Given the description of an element on the screen output the (x, y) to click on. 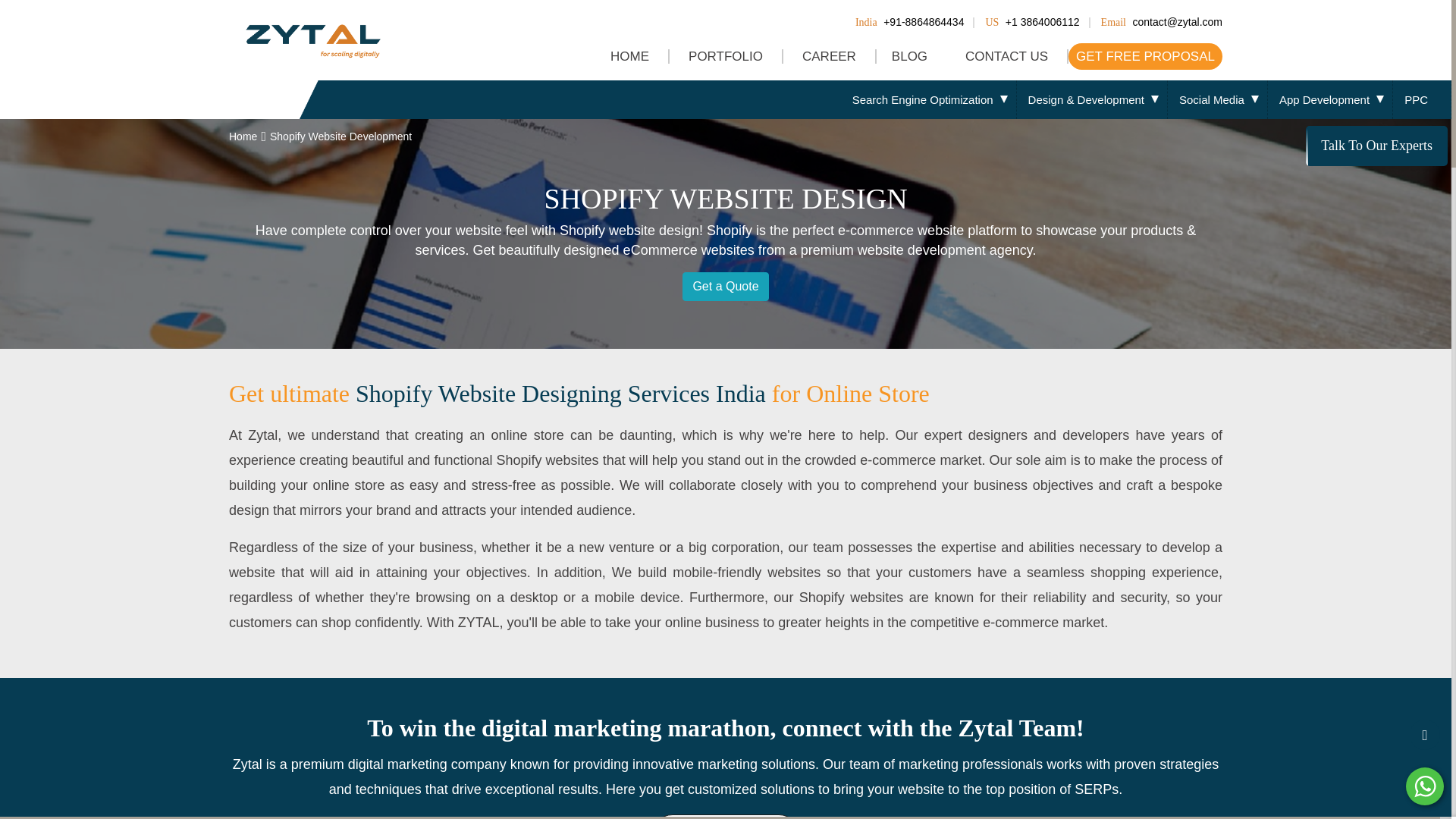
BLOG (911, 56)
Search Engine Optimization (928, 99)
CONTACT US (1007, 56)
PORTFOLIO (726, 56)
PPC (1422, 99)
Zytal logo (312, 38)
HOME (630, 56)
CAREER (829, 56)
Social Media (1217, 99)
App Development (1330, 99)
